Given the description of an element on the screen output the (x, y) to click on. 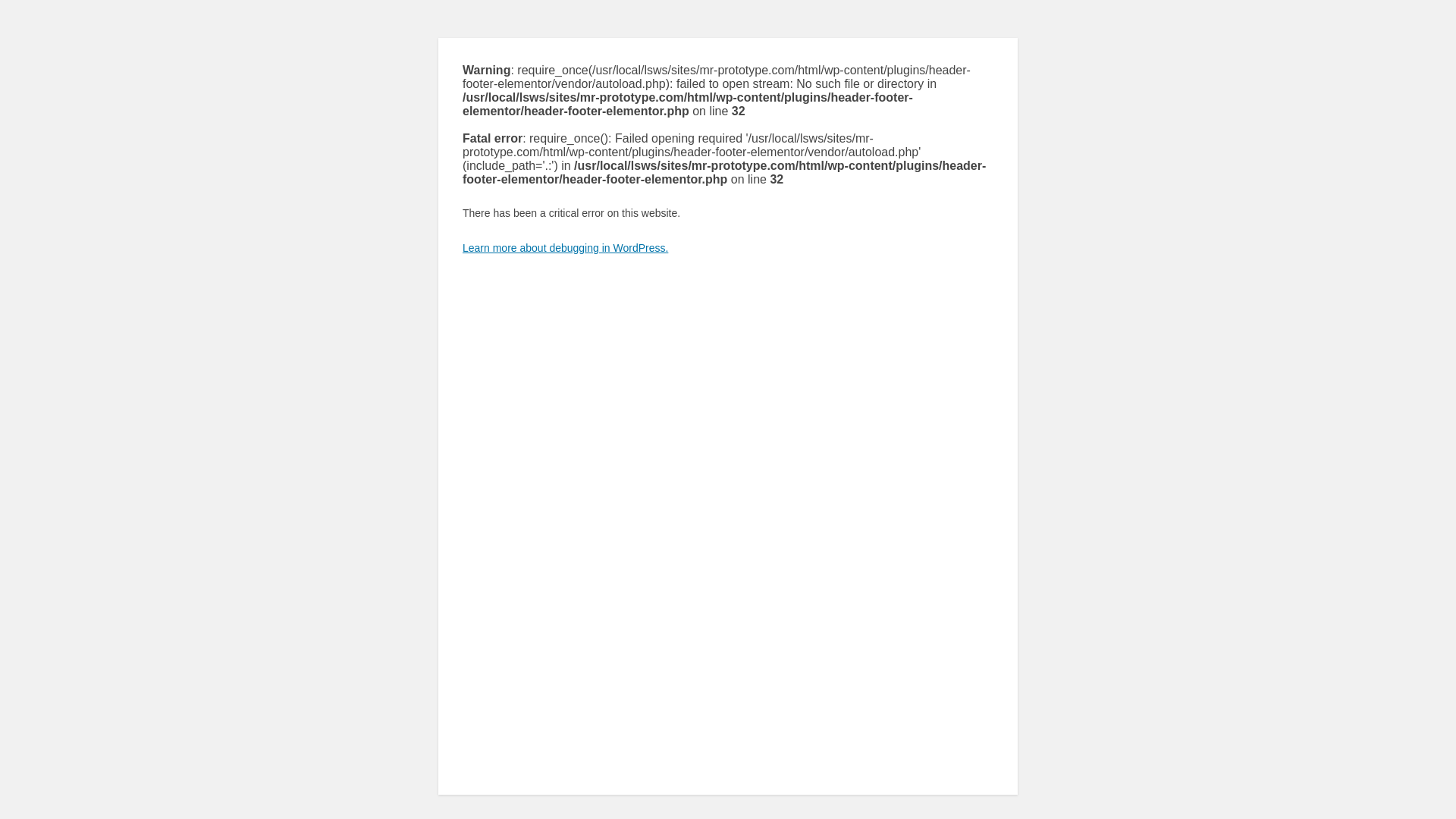
Learn more about debugging in WordPress. (565, 247)
